Given the description of an element on the screen output the (x, y) to click on. 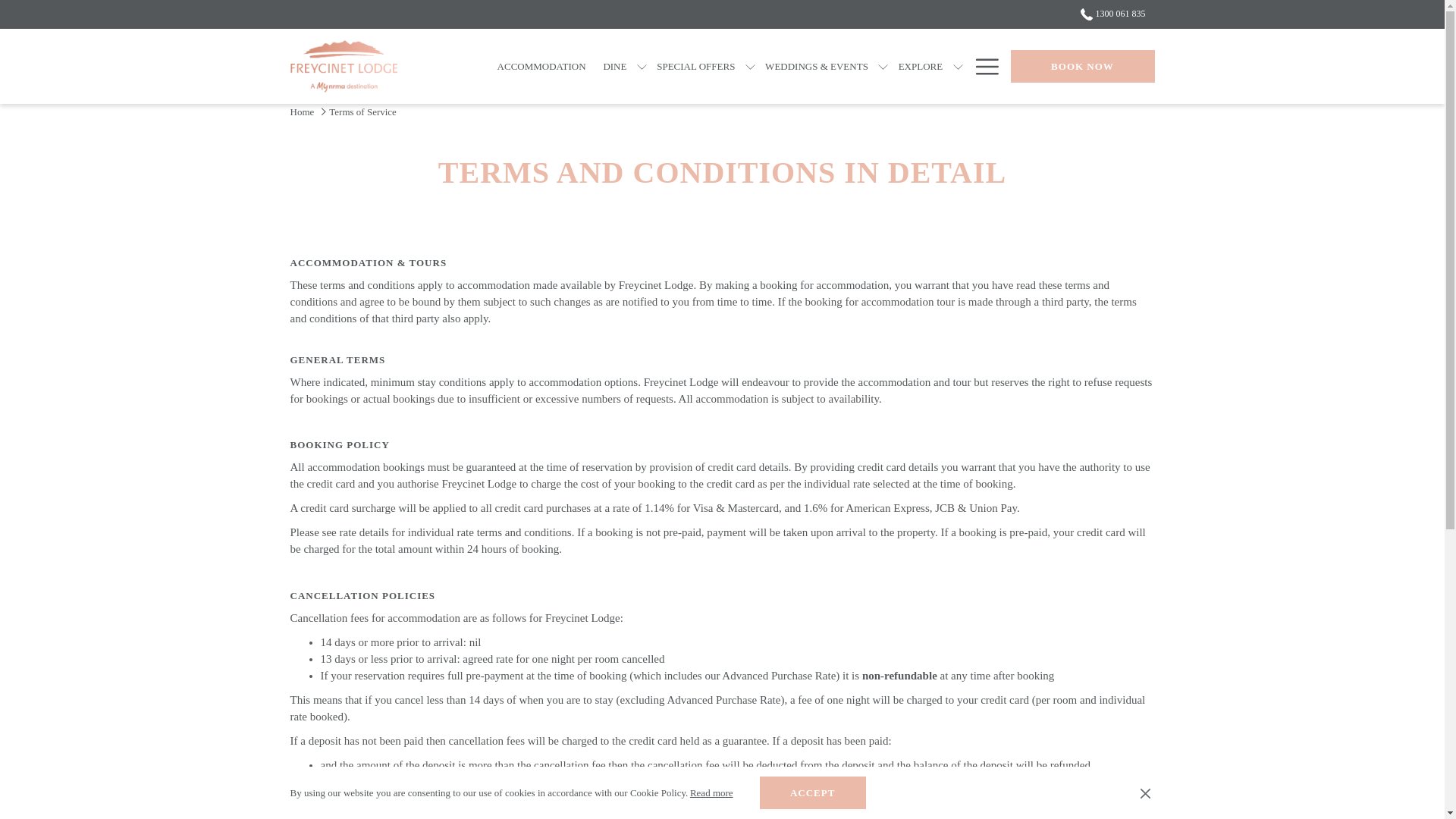
ACCEPT (813, 792)
Back to the homepage (342, 66)
SPECIAL OFFERS (695, 66)
1300 061 835 (1107, 13)
Menu (986, 66)
ACCOMMODATION (540, 66)
EXPLORE (919, 66)
